Given the description of an element on the screen output the (x, y) to click on. 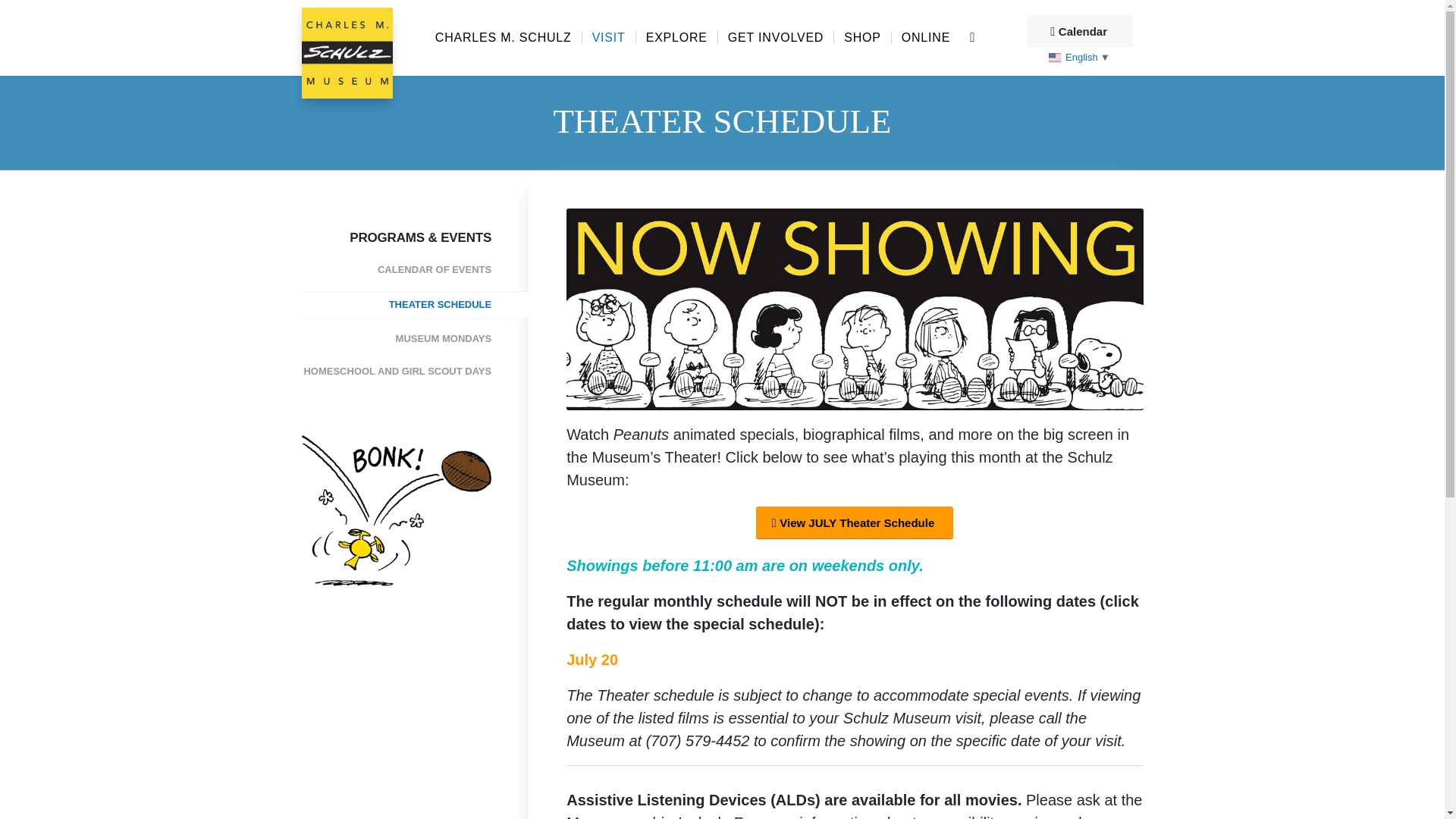
TheaterSchedule (854, 309)
EXPLORE (675, 38)
CHARLES M. SCHULZ (502, 38)
Permanent Link: Theater Schedule (722, 121)
SchulzMuseum (347, 52)
